Given the description of an element on the screen output the (x, y) to click on. 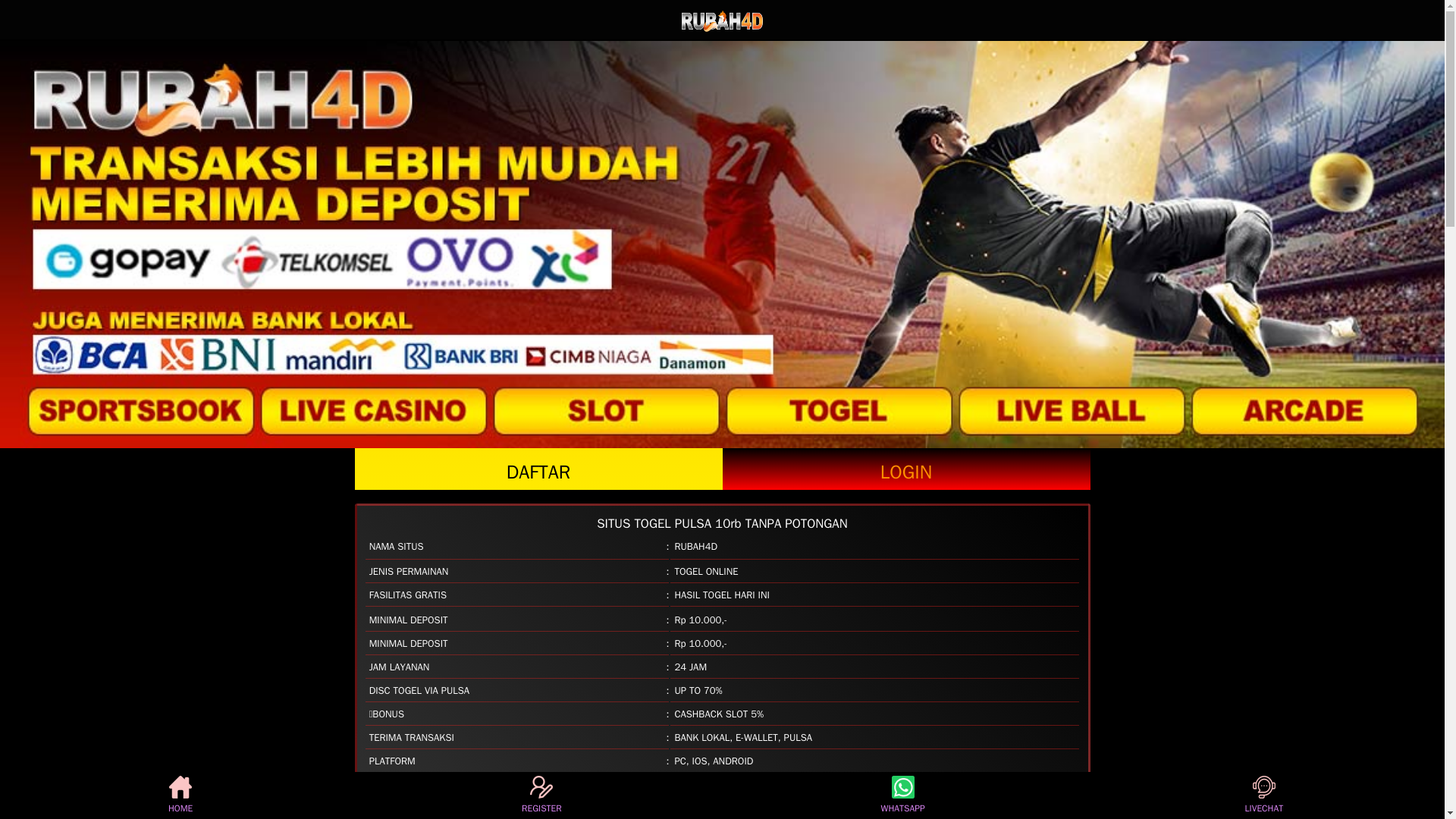
HOME (180, 794)
DAFTAR (538, 468)
WHATSAPP (903, 794)
LOGIN (905, 468)
LIVECHAT (1263, 794)
REGISTER (541, 794)
